Given the description of an element on the screen output the (x, y) to click on. 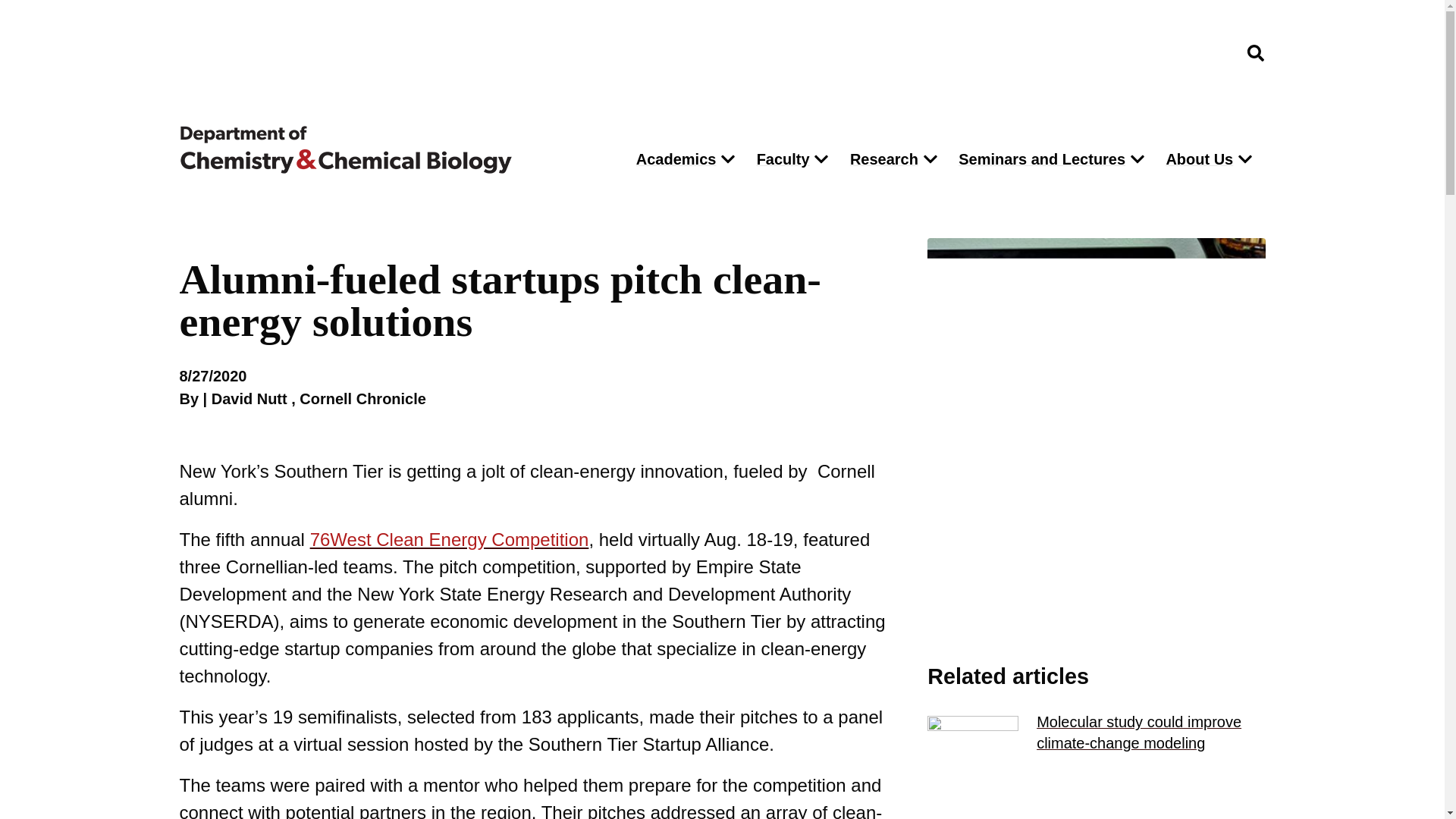
Department Homepage (393, 149)
Seminars and Lectures (1037, 158)
Faculty (779, 158)
About Us (1195, 158)
Research (880, 158)
College of Arts and Sciences (1146, 52)
Cornell University (254, 53)
Academics (672, 158)
Cornell University (254, 53)
Open search (1255, 53)
